Given the description of an element on the screen output the (x, y) to click on. 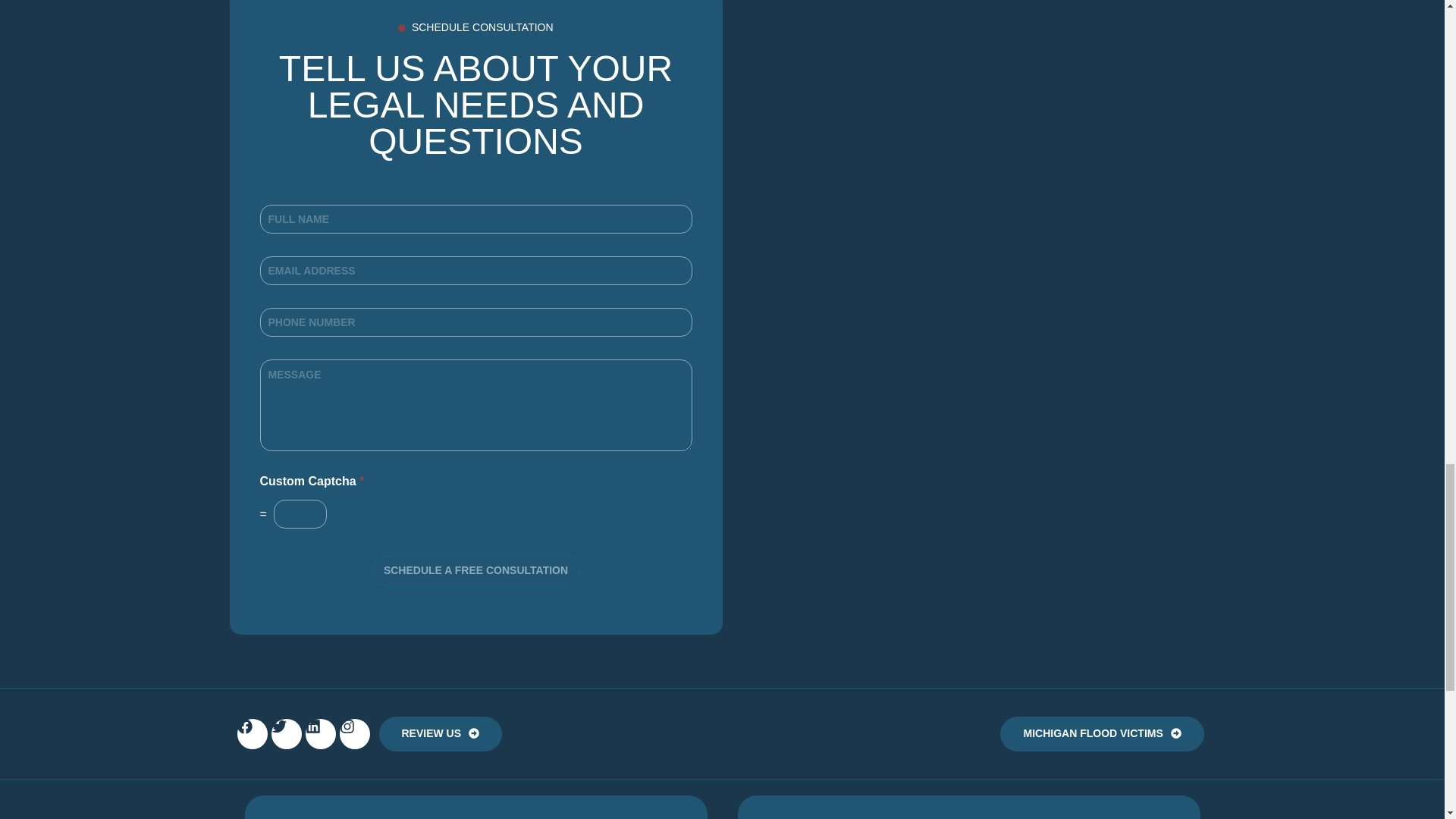
2740 N Meridian Road Sanford, MI 48657 (967, 807)
400 Water Street Suite 205 Rochester, MI 48307 (475, 807)
